Given the description of an element on the screen output the (x, y) to click on. 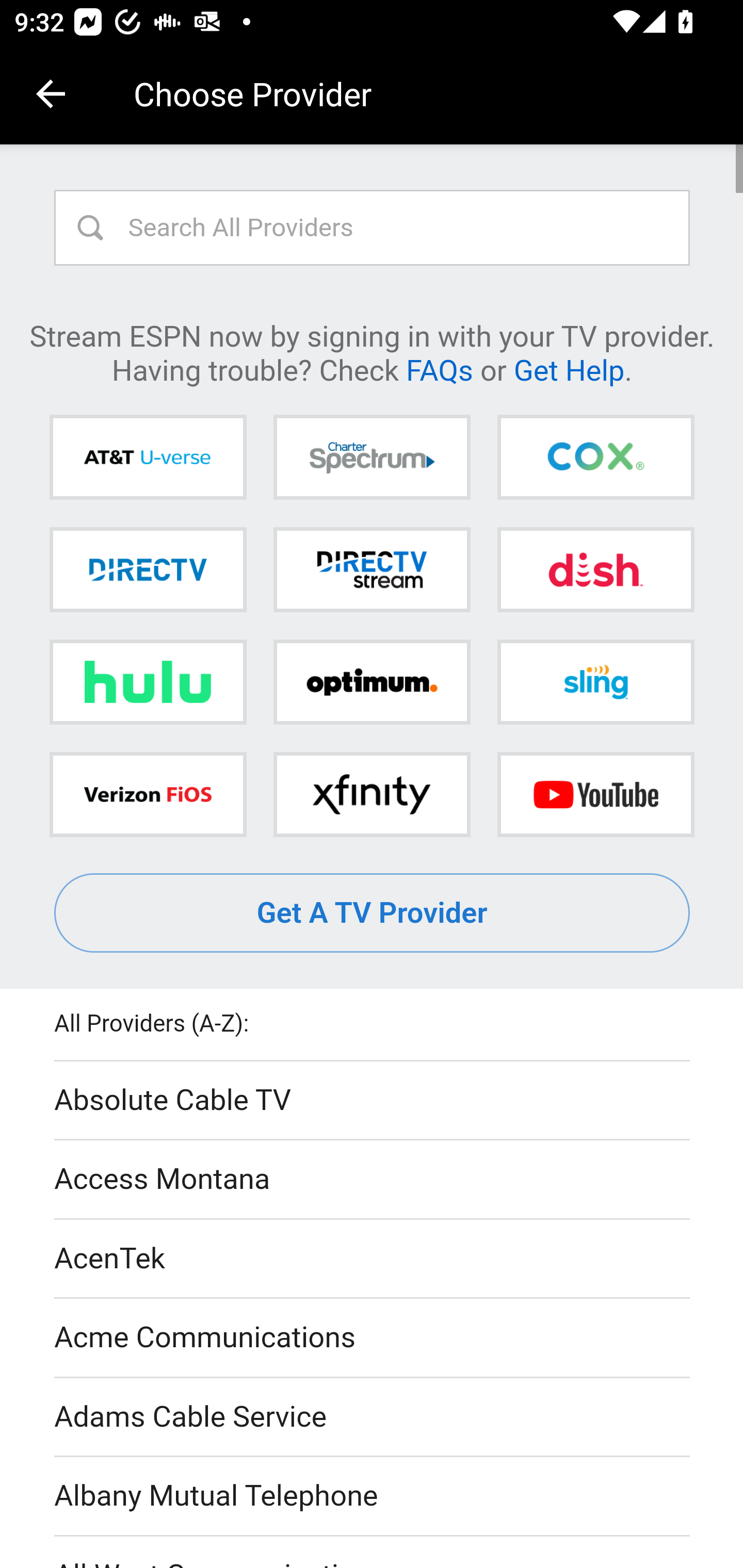
Navigate up (50, 93)
FAQs (438, 369)
Get Help (569, 369)
AT&T U-verse (147, 457)
Charter Spectrum (371, 457)
Cox (595, 457)
DIRECTV (147, 568)
DIRECTV STREAM (371, 568)
DISH (595, 568)
Hulu (147, 681)
Optimum (371, 681)
Sling TV (595, 681)
Verizon FiOS (147, 793)
Xfinity (371, 793)
YouTube TV (595, 793)
Get A TV Provider (372, 912)
Absolute Cable TV (372, 1100)
Access Montana (372, 1178)
AcenTek (372, 1258)
Acme Communications (372, 1338)
Adams Cable Service (372, 1417)
Albany Mutual Telephone (372, 1497)
